Given the description of an element on the screen output the (x, y) to click on. 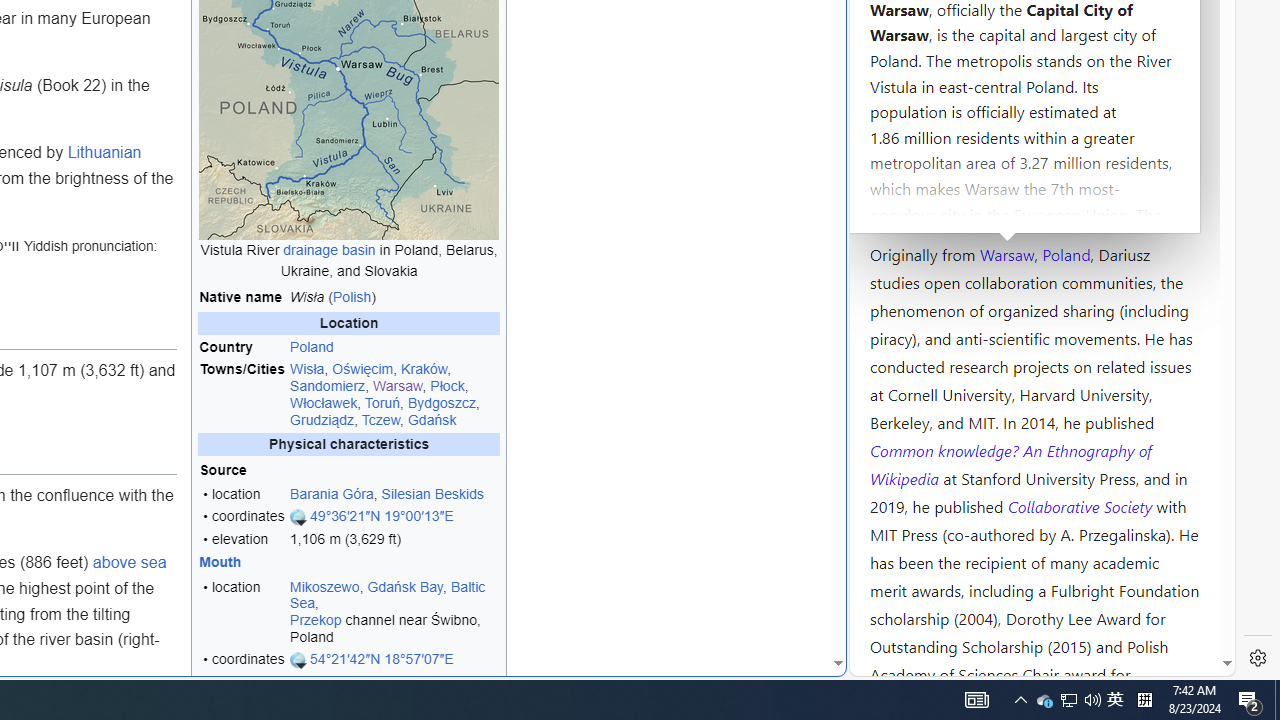
Location (349, 323)
Collaborative Society  (1082, 505)
Poland (1065, 253)
Lithuanian (104, 152)
google_privacy_policy_zh-CN.pdf (687, 482)
MSN (687, 223)
